Given the description of an element on the screen output the (x, y) to click on. 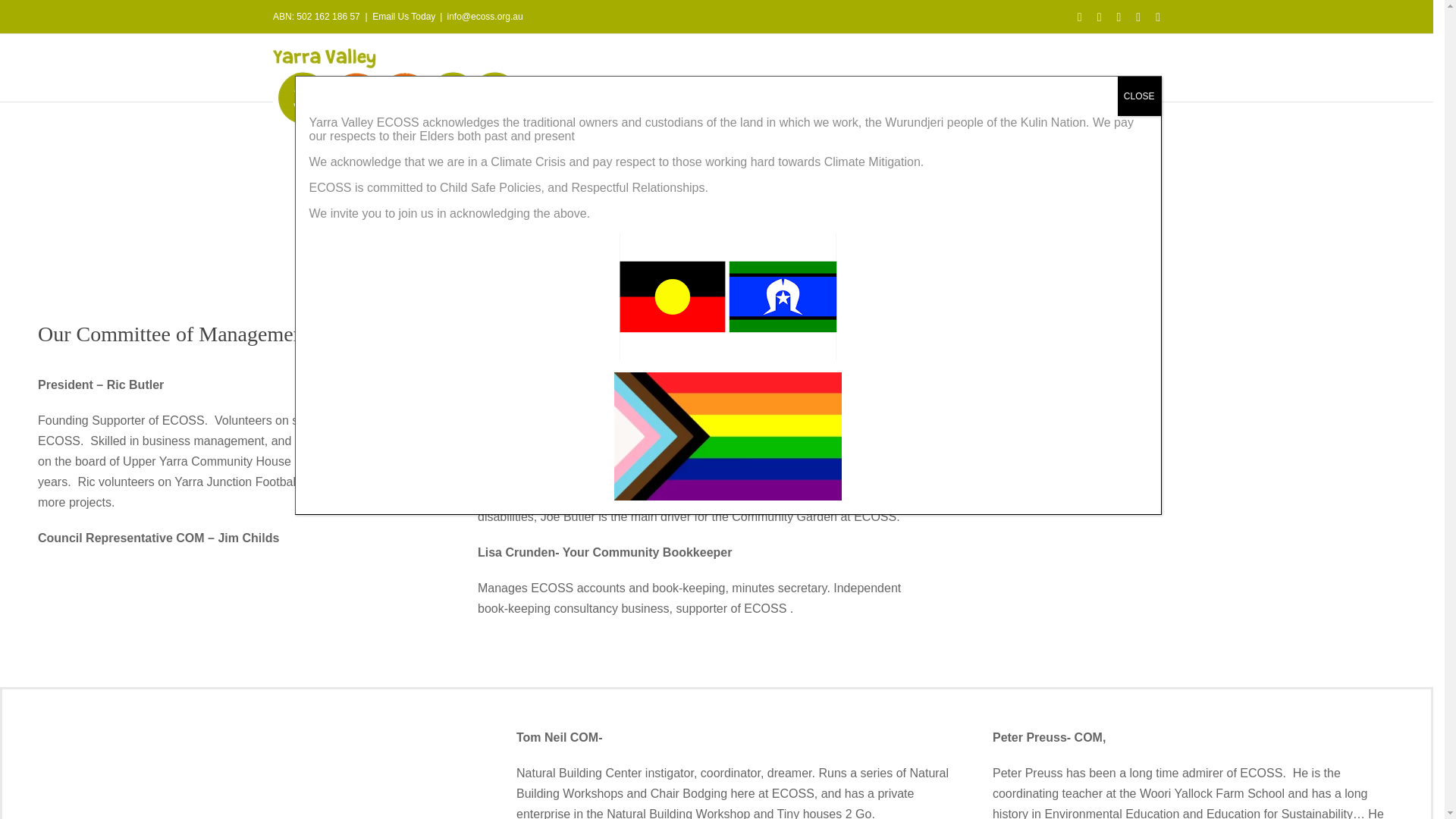
What We Do? (574, 171)
Get Involved (773, 171)
